Given the description of an element on the screen output the (x, y) to click on. 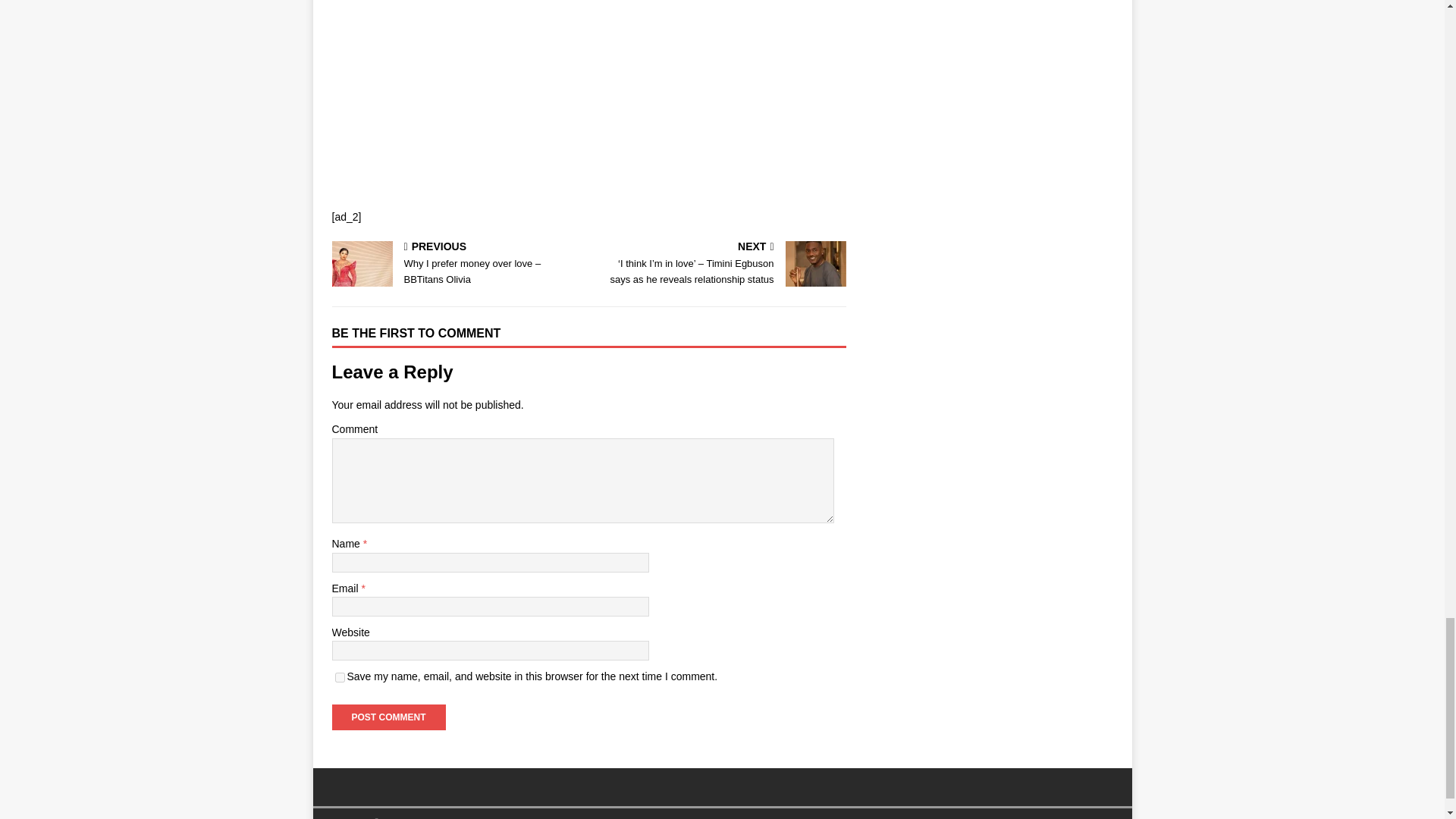
Post Comment (388, 717)
VideoPress Video Player (469, 78)
Post Comment (388, 717)
yes (339, 677)
